Given the description of an element on the screen output the (x, y) to click on. 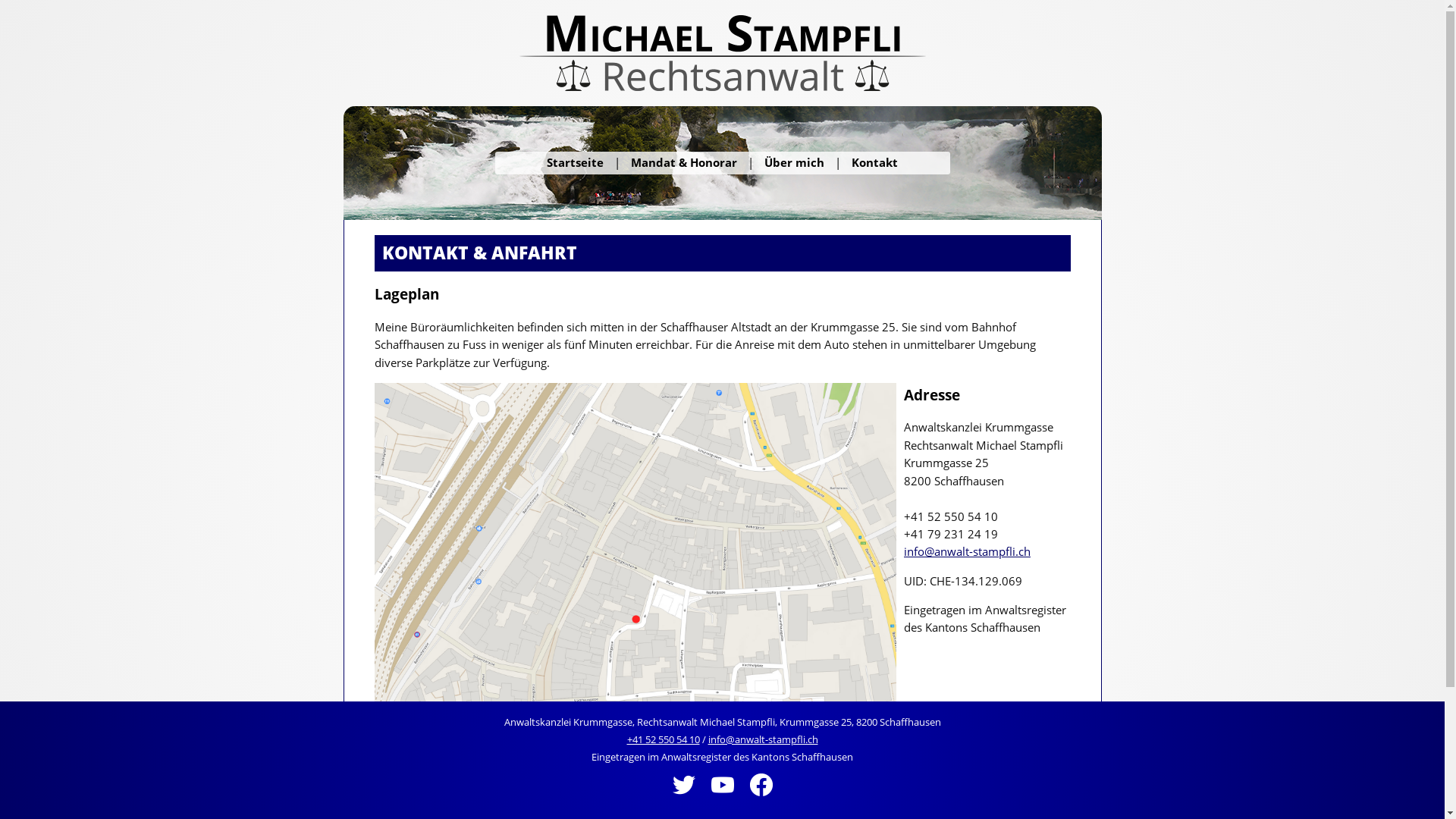
info@anwalt-stampfli.ch Element type: text (966, 550)
Kontakt Element type: text (874, 161)
Mandat & Honorar Element type: text (683, 161)
Kontakt Element type: text (874, 161)
Startseite Element type: text (575, 161)
Mandat & Honorar Element type: text (683, 161)
info@anwalt-stampfli.ch Element type: text (763, 739)
+41 52 550 54 10 Element type: text (662, 739)
Startseite Element type: text (574, 161)
